Given the description of an element on the screen output the (x, y) to click on. 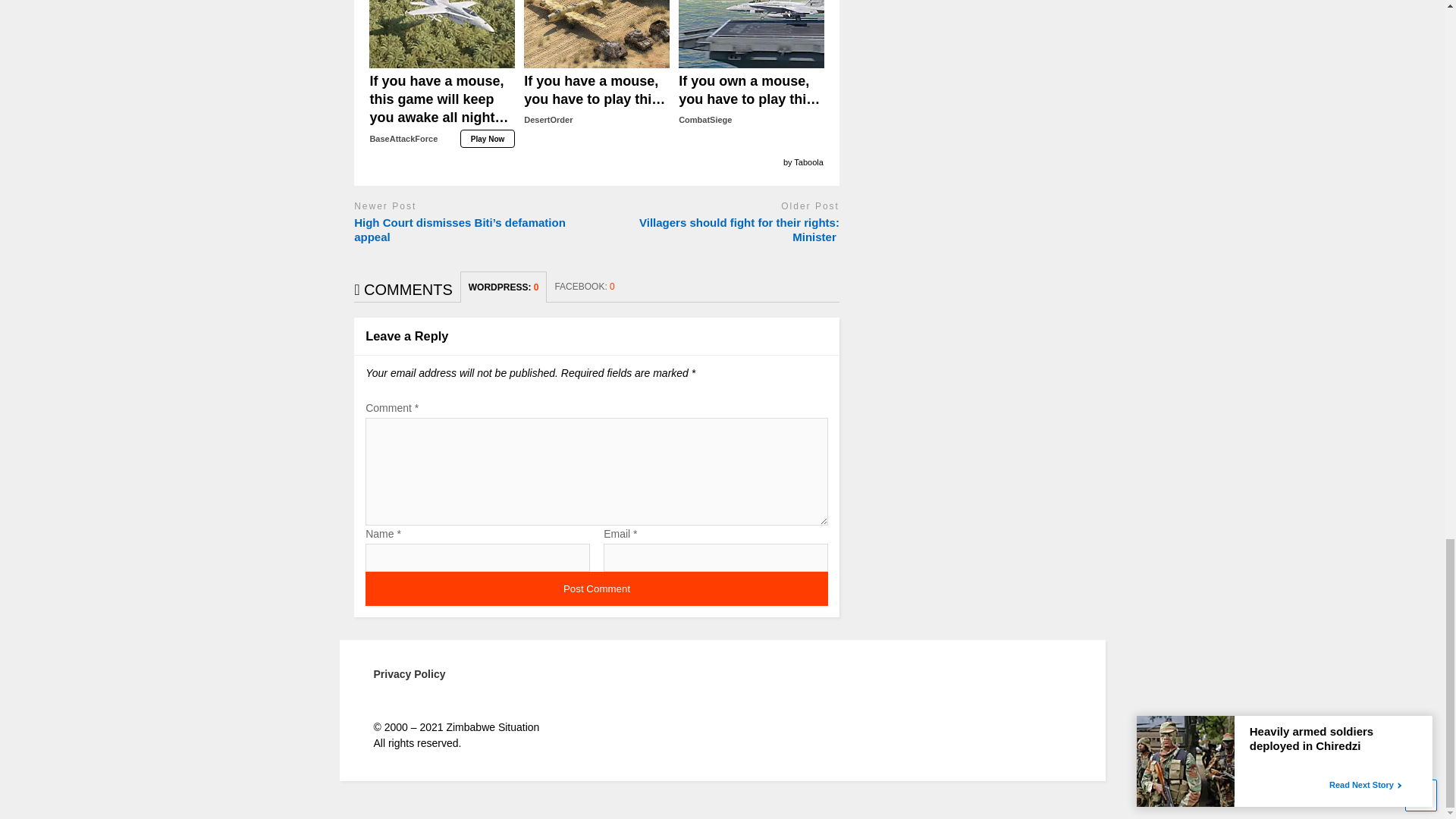
Post Comment (596, 588)
by Taboola (803, 162)
If you own a mouse, you have to play this game. (751, 100)
If you own a mouse, you have to play this game. (751, 33)
Play Now (751, 100)
